Given the description of an element on the screen output the (x, y) to click on. 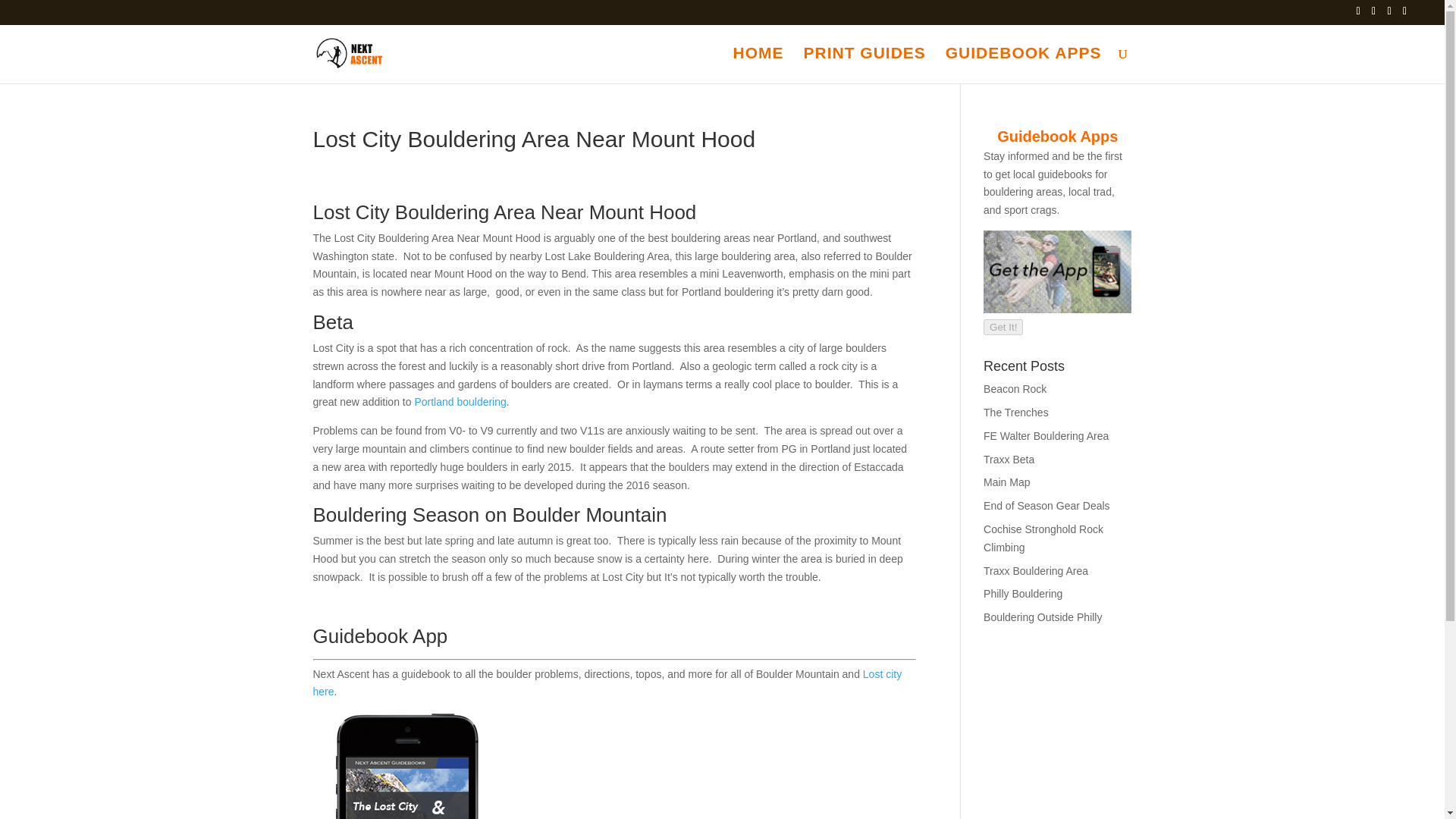
Portland bouldering (459, 401)
Traxx Beta (1008, 459)
Cochise Stronghold Rock Climbing (1043, 538)
HOME (758, 65)
Beacon Rock (1015, 388)
Get It! (1003, 326)
 Lost city here (607, 683)
The Trenches (1016, 412)
Get It! (1003, 326)
Portland Bouldering (459, 401)
GUIDEBOOK APPS (1023, 65)
PRINT GUIDES (864, 65)
Bouldering Outside Philly (1043, 616)
FE Walter Bouldering Area (1046, 435)
Philly Bouldering (1023, 593)
